Given the description of an element on the screen output the (x, y) to click on. 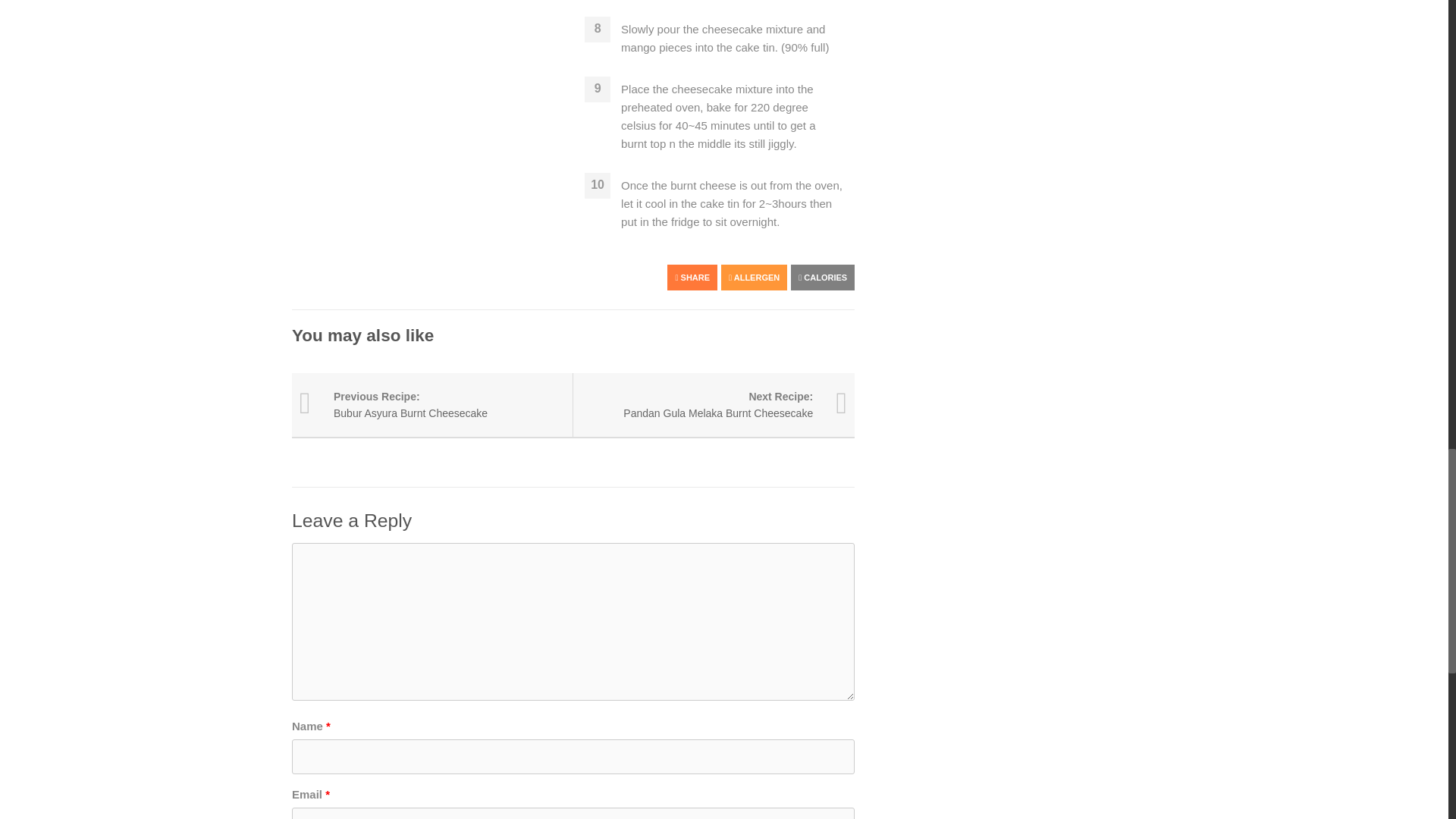
Previous Recipe: Bubur Asyura Burnt Cheesecake (432, 405)
Next Recipe: Pandan Gula Melaka Burnt Cheesecake (713, 405)
CALORIES (822, 277)
